Given the description of an element on the screen output the (x, y) to click on. 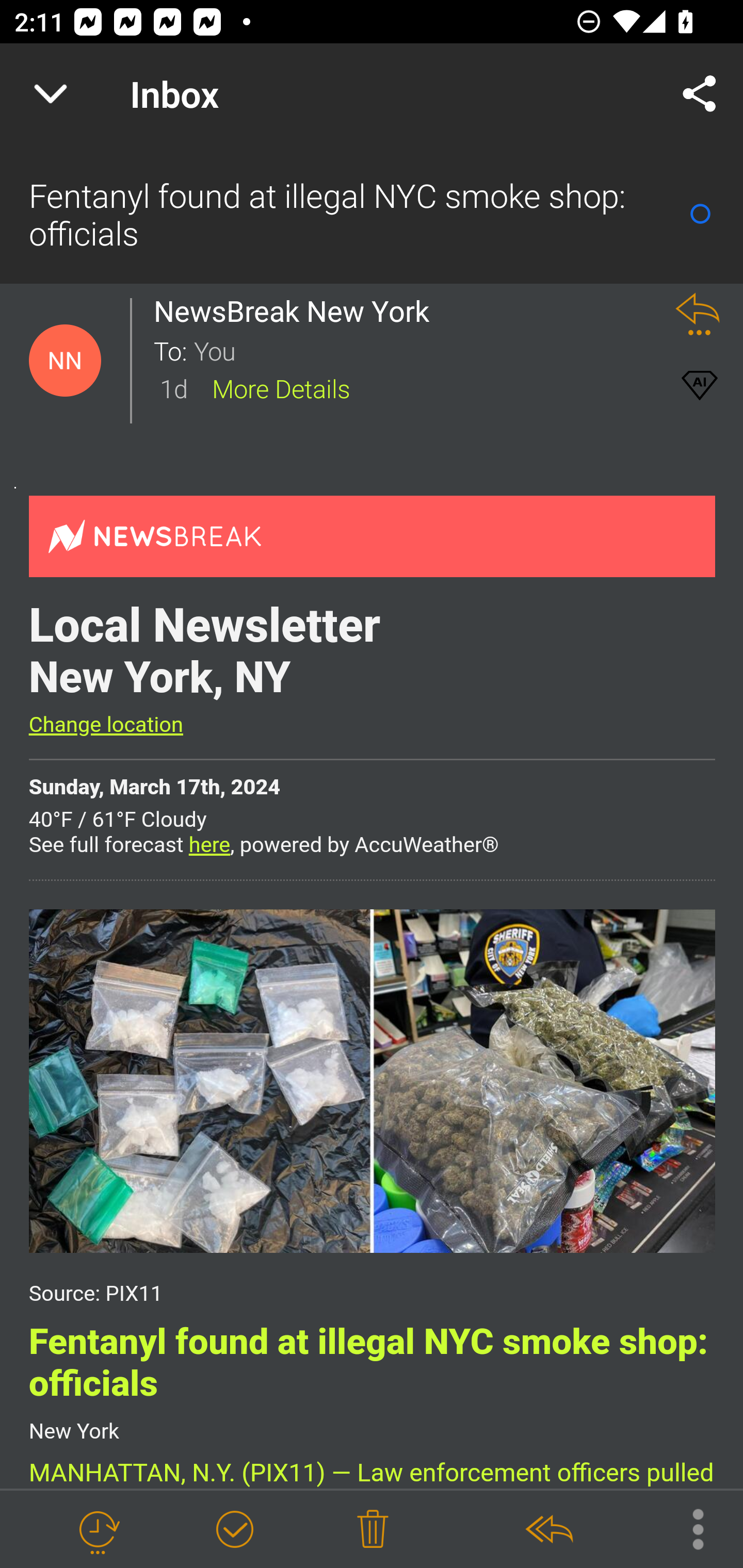
Navigate up (50, 93)
Share (699, 93)
Mark as Read (699, 213)
NewsBreak New York (296, 310)
Contact Details (64, 360)
You (422, 349)
More Details (280, 387)
Change location (105, 724)
here (209, 845)
1 local news image (371, 1079)
More Options (687, 1528)
Snooze (97, 1529)
Mark as Done (234, 1529)
Delete (372, 1529)
Reply All (548, 1529)
